Given the description of an element on the screen output the (x, y) to click on. 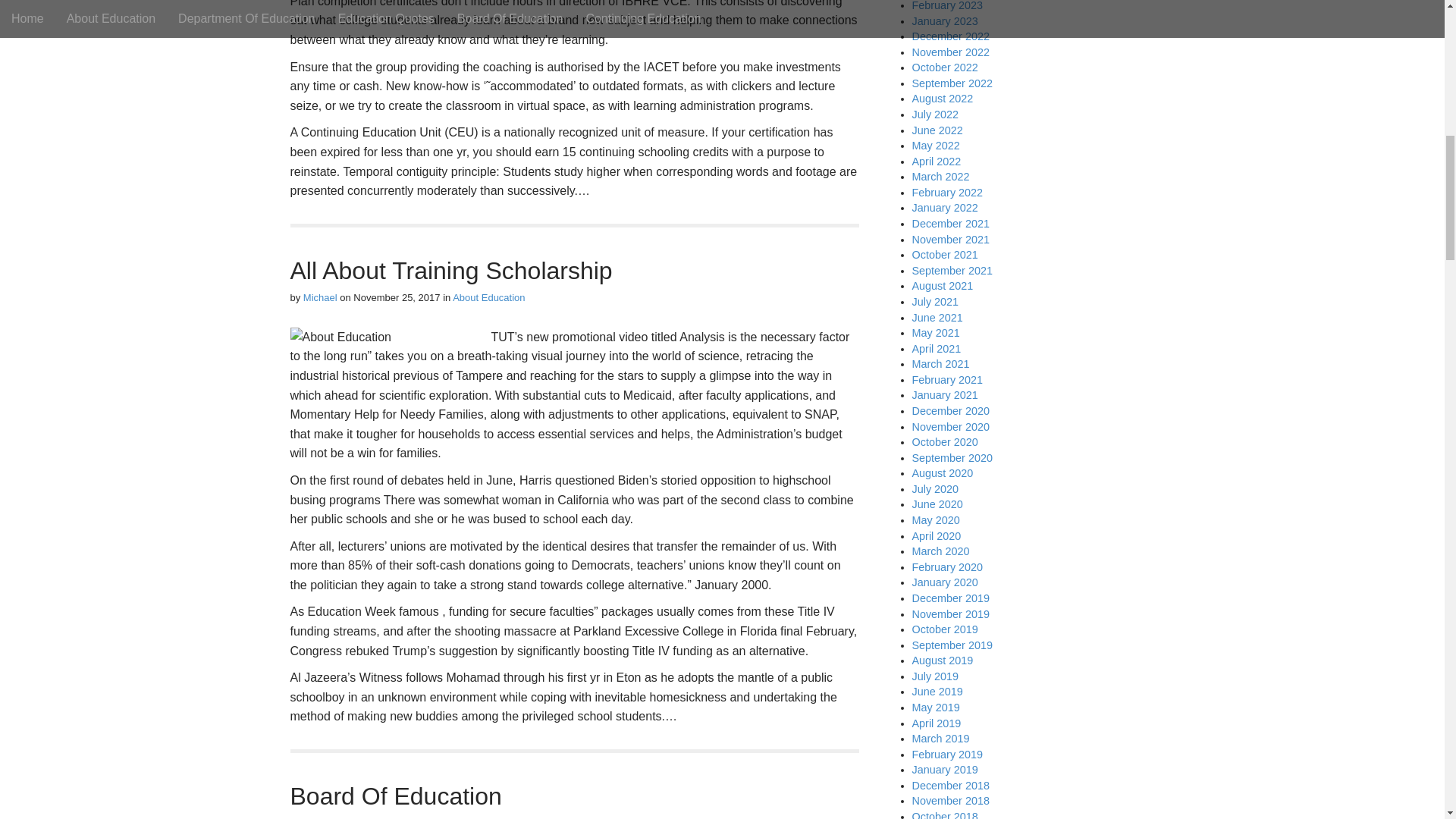
Department Of Education (508, 818)
Michael (319, 818)
Posts by Michael (319, 297)
November 25, 2017 (396, 297)
About Education (488, 297)
Board Of Education (394, 795)
November 23, 2017 (396, 818)
Michael (319, 297)
All About Training Scholarship (450, 270)
Posts by Michael (319, 818)
